Given the description of an element on the screen output the (x, y) to click on. 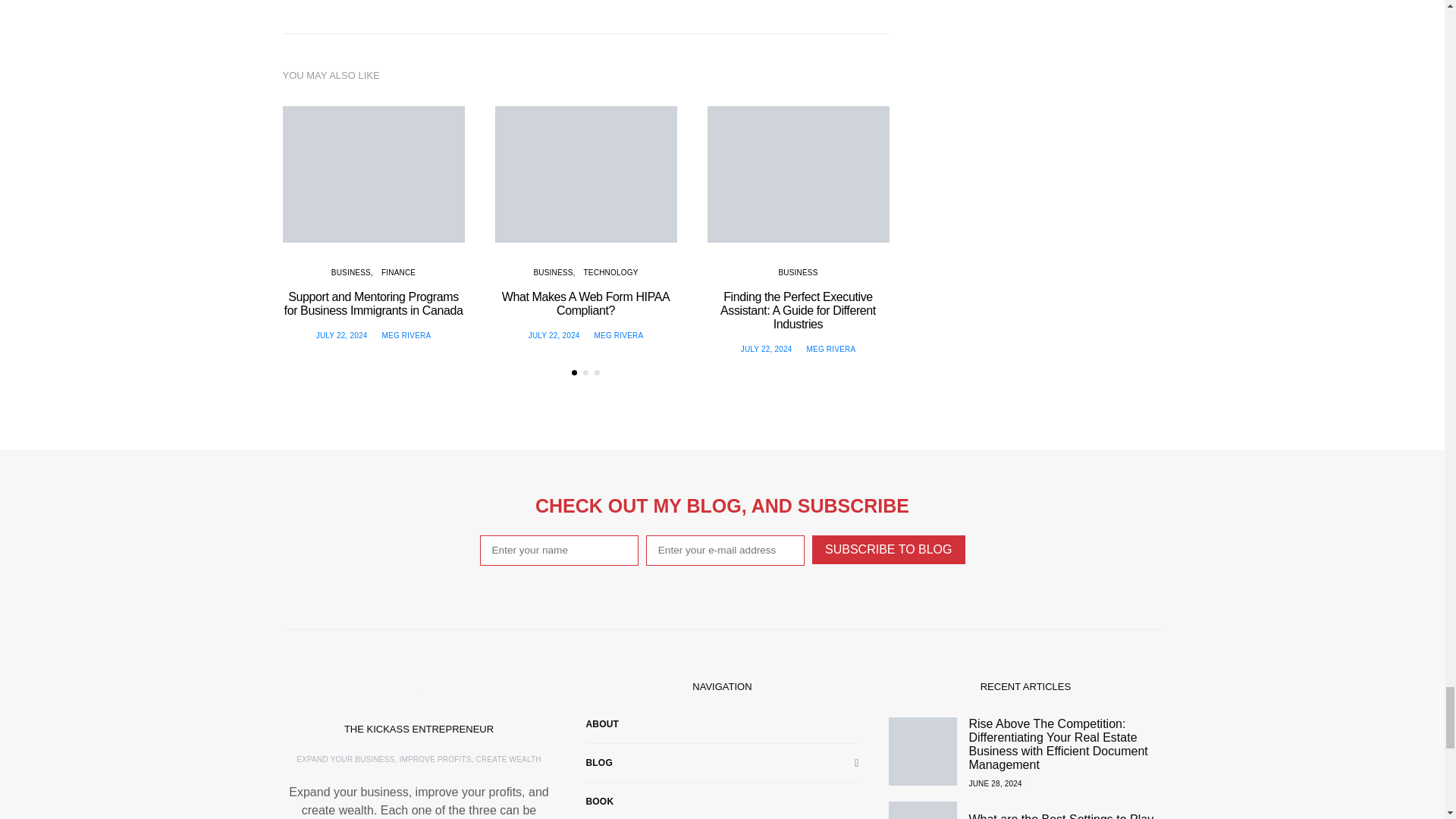
View all posts by Meg Rivera (831, 348)
SUBSCRIBE TO BLOG (887, 549)
View all posts by Meg Rivera (618, 335)
View all posts by Meg Rivera (405, 335)
